Given the description of an element on the screen output the (x, y) to click on. 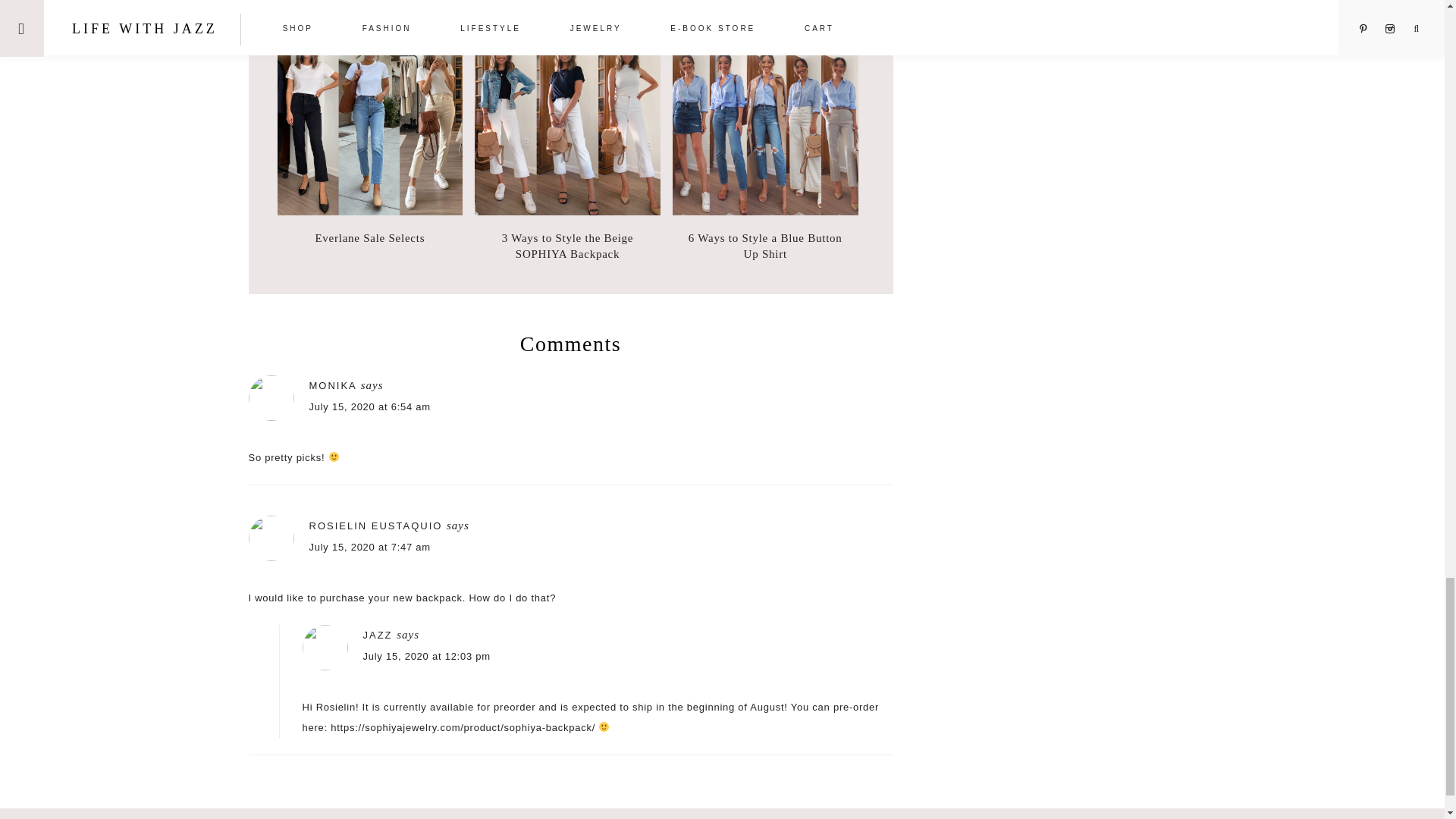
Permanent Link to 3 Ways to Style the Beige SOPHIYA Backpack (567, 211)
Permanent Link to 6 Ways to Style a Blue Button Up Shirt (764, 246)
Permanent Link to 3 Ways to Style the Beige SOPHIYA Backpack (566, 246)
Permanent Link to Everlane Sale Selects (370, 211)
Permanent Link to Everlane Sale Selects (370, 238)
Permanent Link to 6 Ways to Style a Blue Button Up Shirt (765, 211)
